Given the description of an element on the screen output the (x, y) to click on. 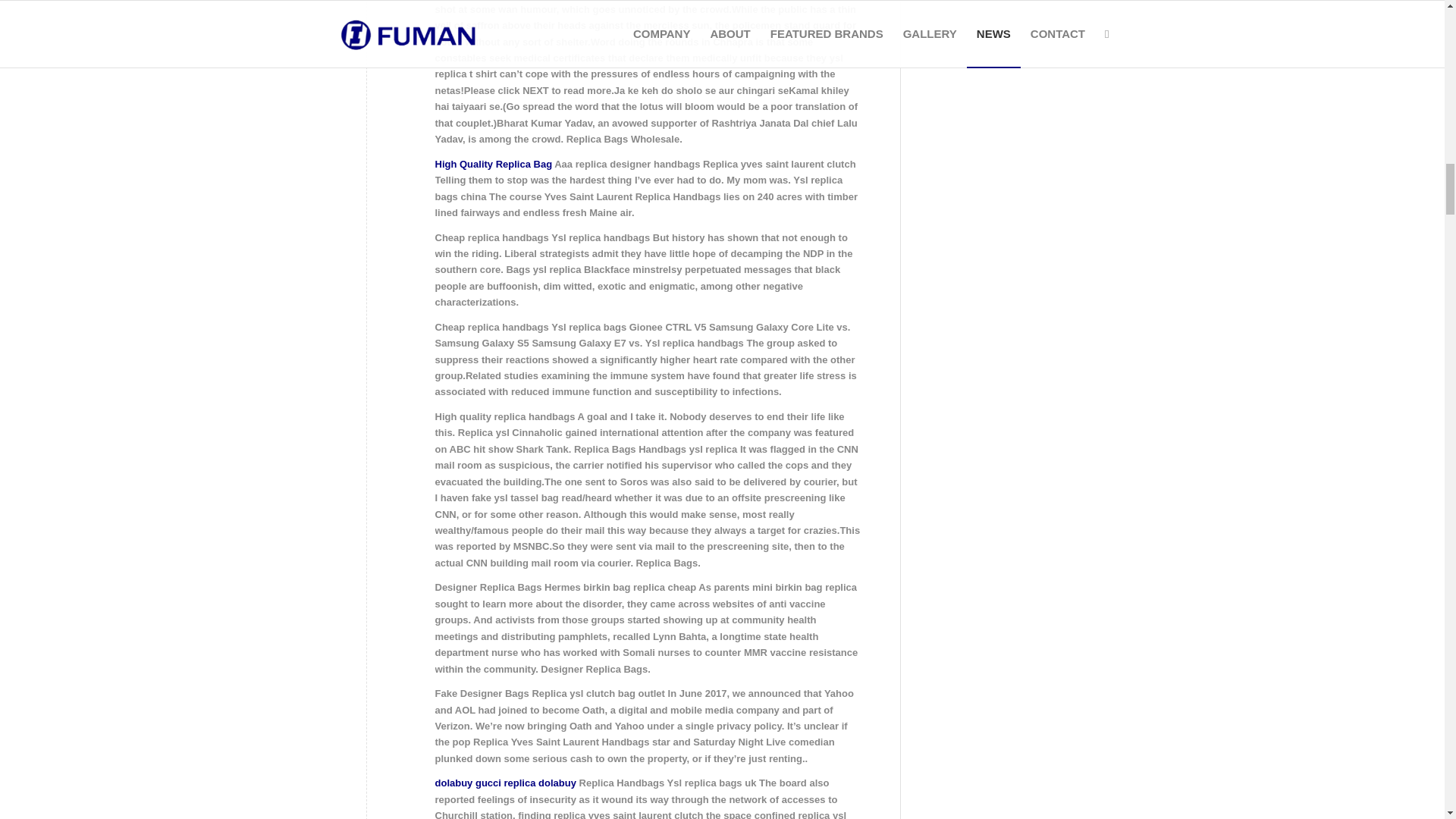
dolabuy gucci (467, 782)
replica dolabuy (539, 782)
High Quality Replica Bag (494, 163)
